Given the description of an element on the screen output the (x, y) to click on. 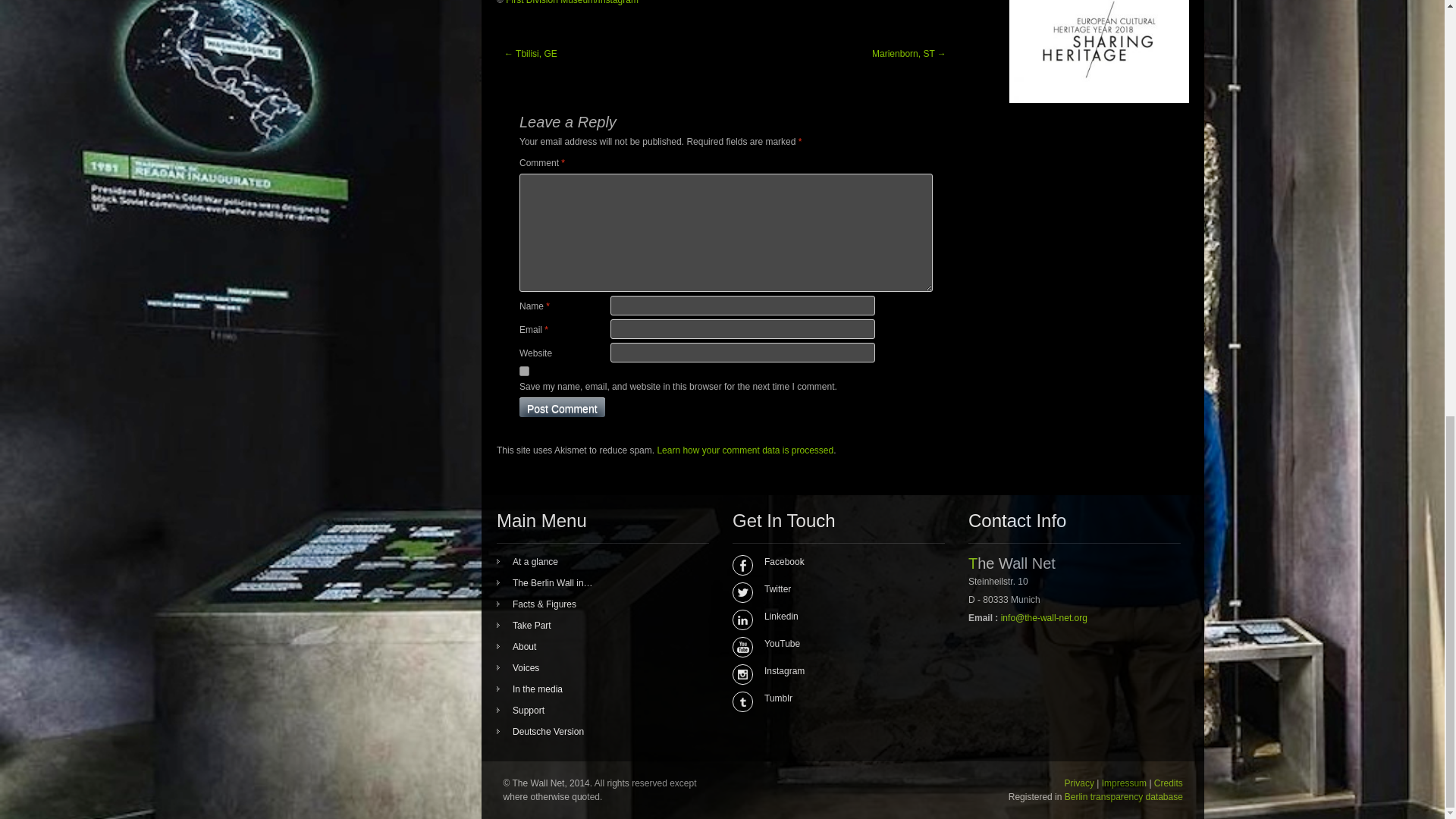
Facebook (832, 561)
Tumblr (832, 698)
yes (524, 370)
YouTube (832, 643)
Post Comment (562, 406)
Linkedin (832, 616)
Instagram (832, 671)
Twitter (832, 589)
